Given the description of an element on the screen output the (x, y) to click on. 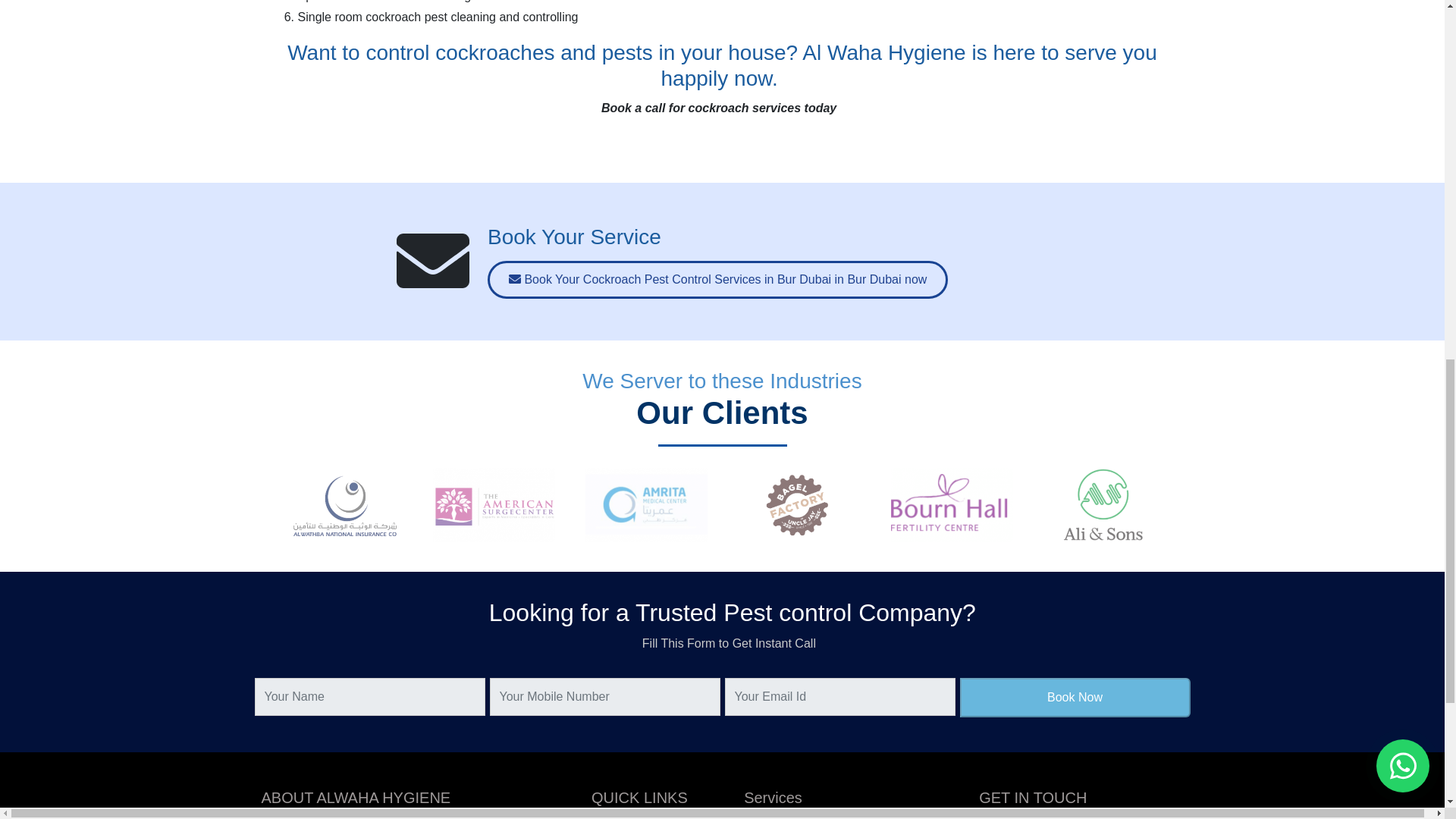
Book Now (1075, 697)
Book Now (1075, 697)
